Given the description of an element on the screen output the (x, y) to click on. 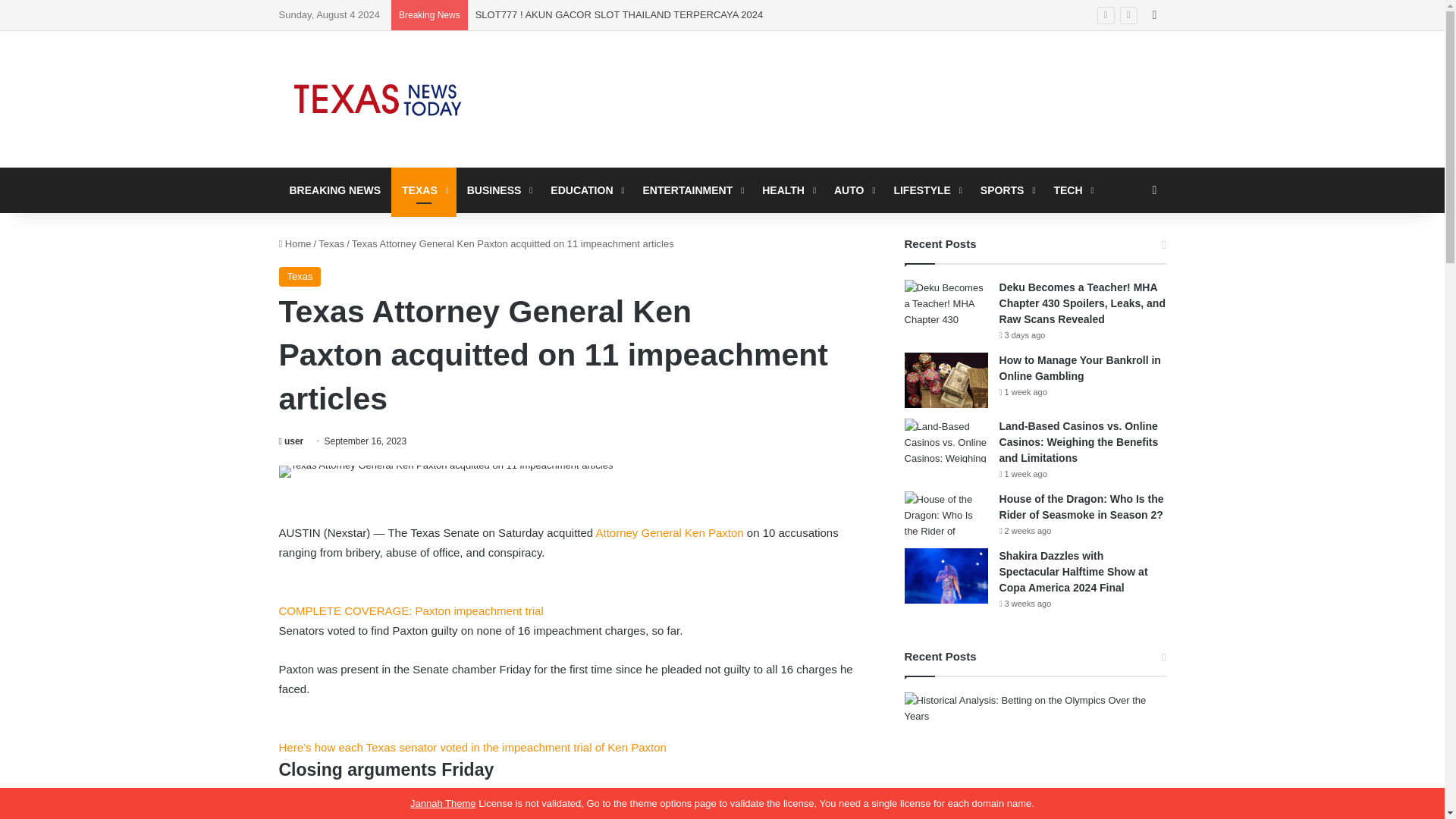
LIFESTYLE (925, 189)
Texasnewstoday.com (377, 99)
TEXAS (424, 189)
SPORTS (1006, 189)
Texas (330, 243)
Jannah Theme (443, 803)
COMPLETE COVERAGE: Paxton impeachment trial (411, 620)
AUTO (853, 189)
TECH (1071, 189)
BUSINESS (498, 189)
HEALTH (787, 189)
ENTERTAINMENT (691, 189)
SLOT777 ! AKUN GACOR SLOT THAILAND TERPERCAYA 2024 (619, 14)
user (291, 440)
